Given the description of an element on the screen output the (x, y) to click on. 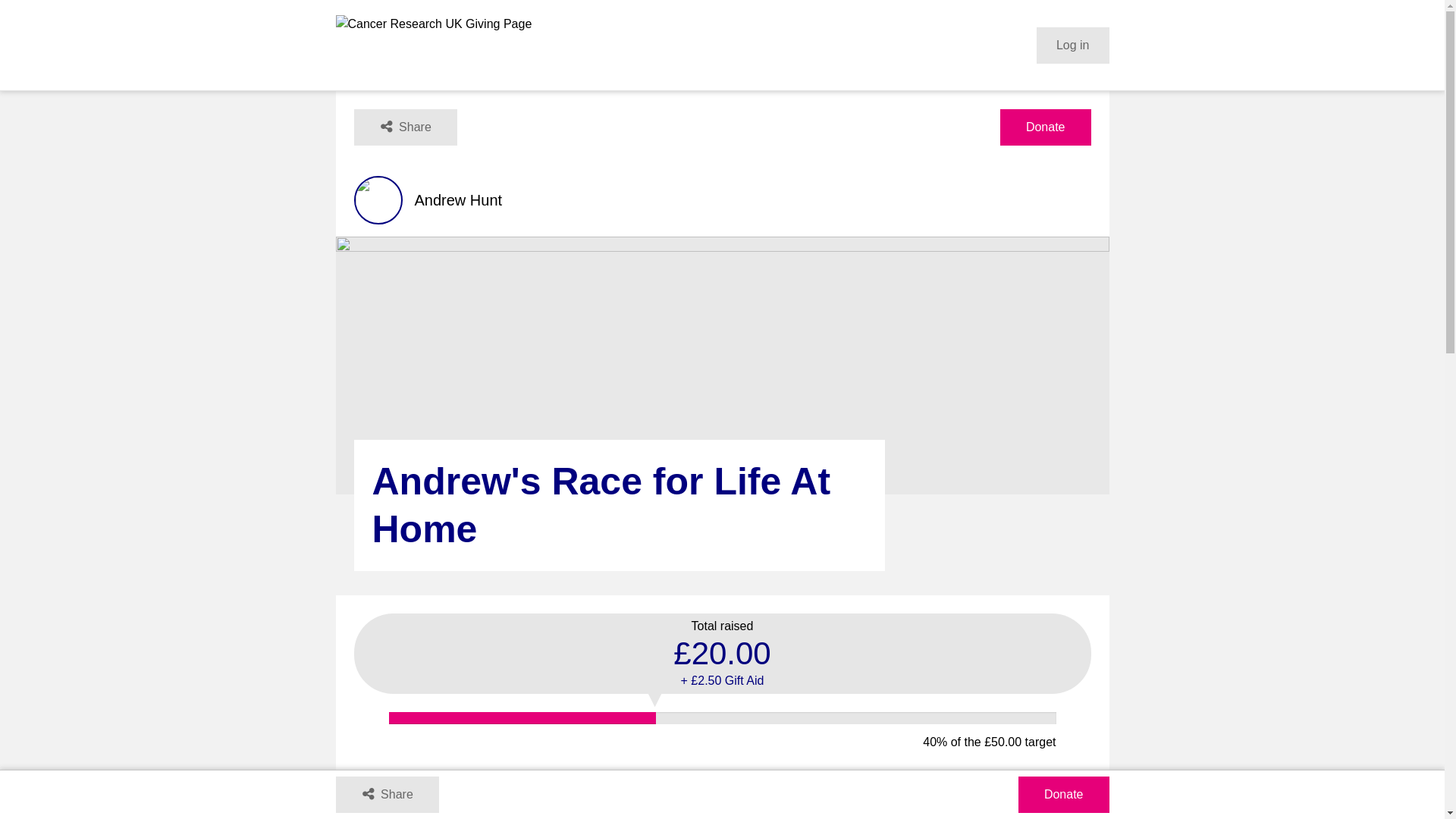
Share (405, 126)
Donate (1063, 794)
Log in (1072, 45)
Share (386, 794)
Home (432, 45)
Donate (1045, 126)
